Given the description of an element on the screen output the (x, y) to click on. 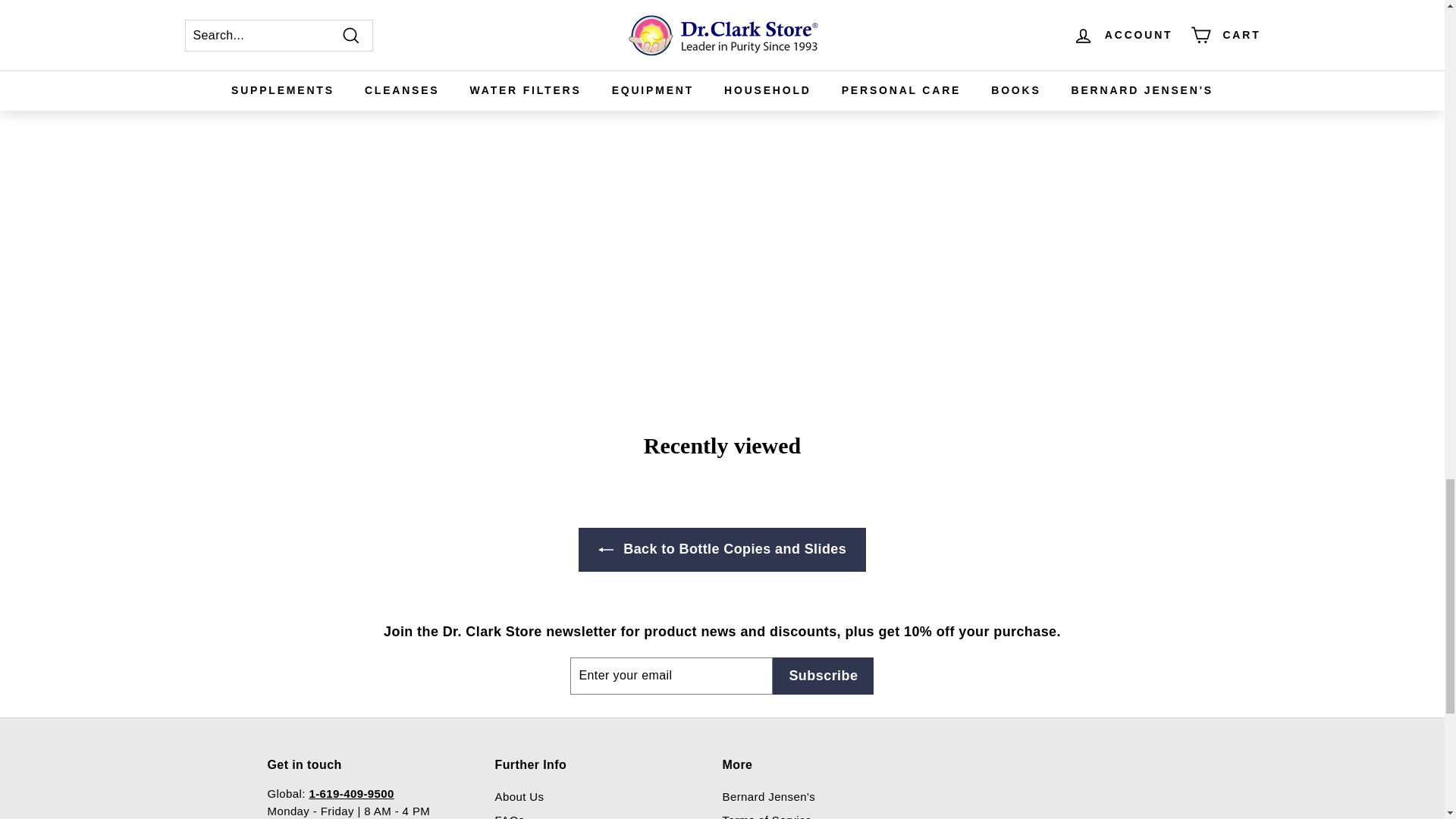
CTS Originals (777, 35)
